Given the description of an element on the screen output the (x, y) to click on. 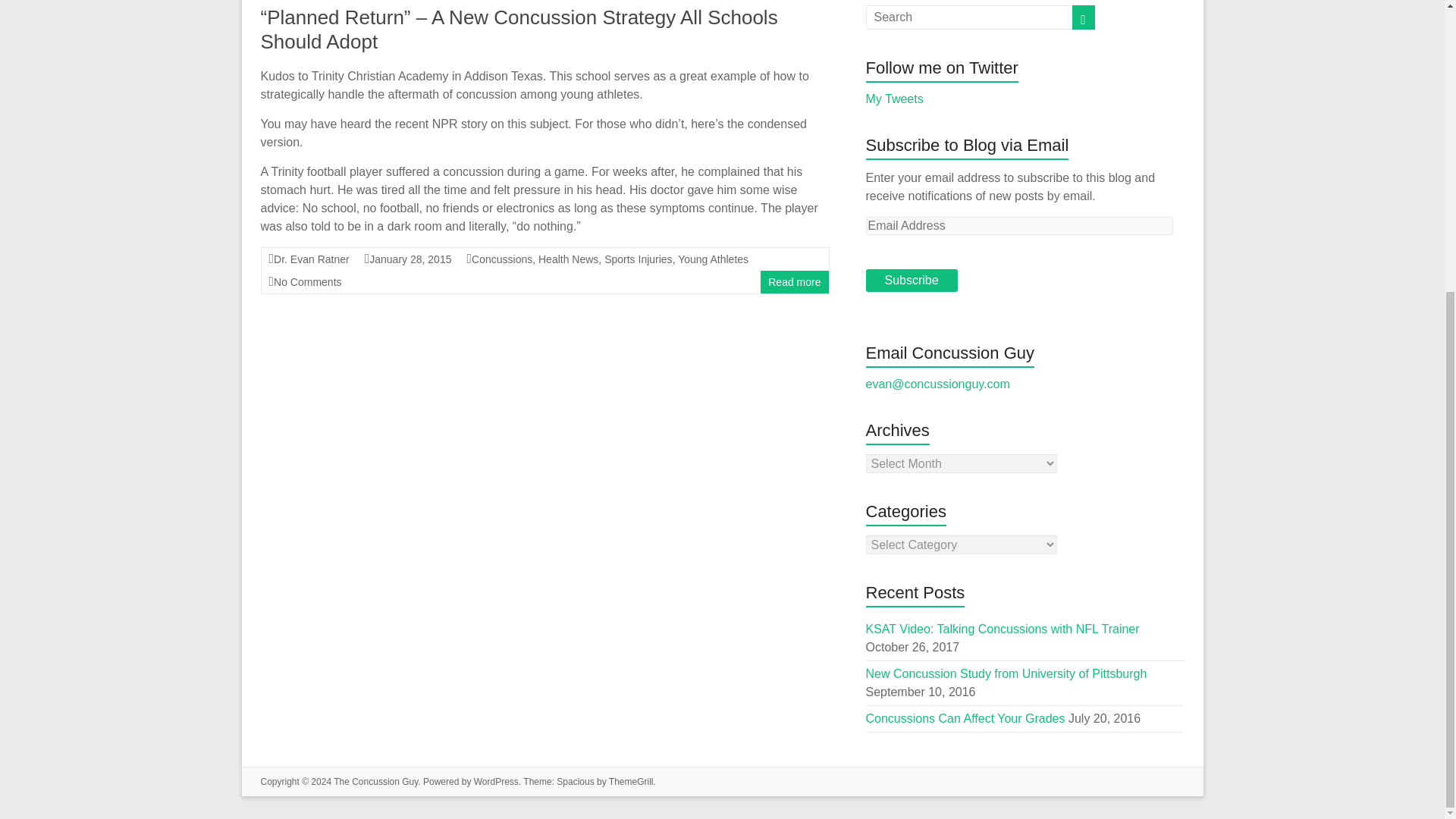
WordPress (496, 781)
Read more (794, 282)
January 28, 2015 (410, 259)
Young Athletes (713, 259)
Sports Injuries (637, 259)
Subscribe (912, 280)
My Tweets (894, 98)
ThemeGrill (630, 781)
New Concussion Study from University of Pittsburgh (1006, 673)
WordPress (496, 781)
The Concussion Guy (375, 781)
No Comments (306, 282)
Subscribe (912, 280)
Health News (568, 259)
The Concussion Guy (375, 781)
